Given the description of an element on the screen output the (x, y) to click on. 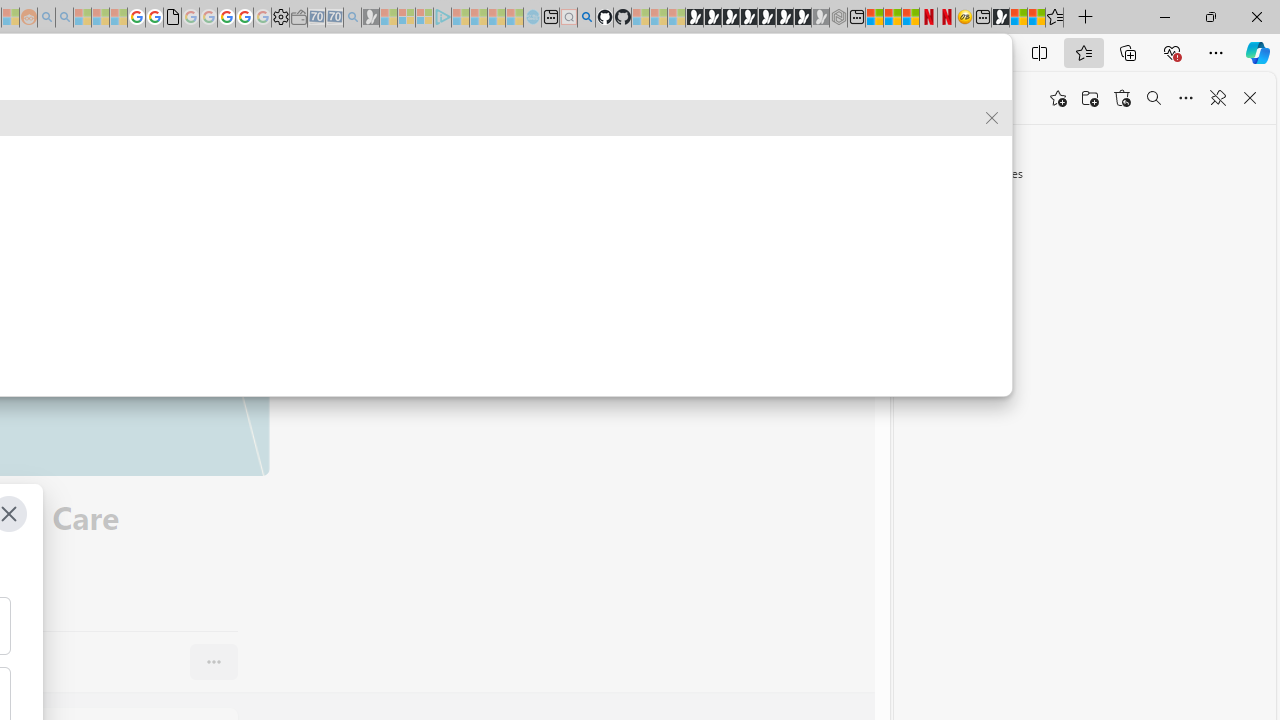
Microsoft Start - Sleeping (496, 17)
Accessible login button (669, 99)
Search favorites (1153, 98)
Play Cave FRVR in your browser | Games from Microsoft Start (729, 17)
Wildlife - MSN (1017, 17)
